Given the description of an element on the screen output the (x, y) to click on. 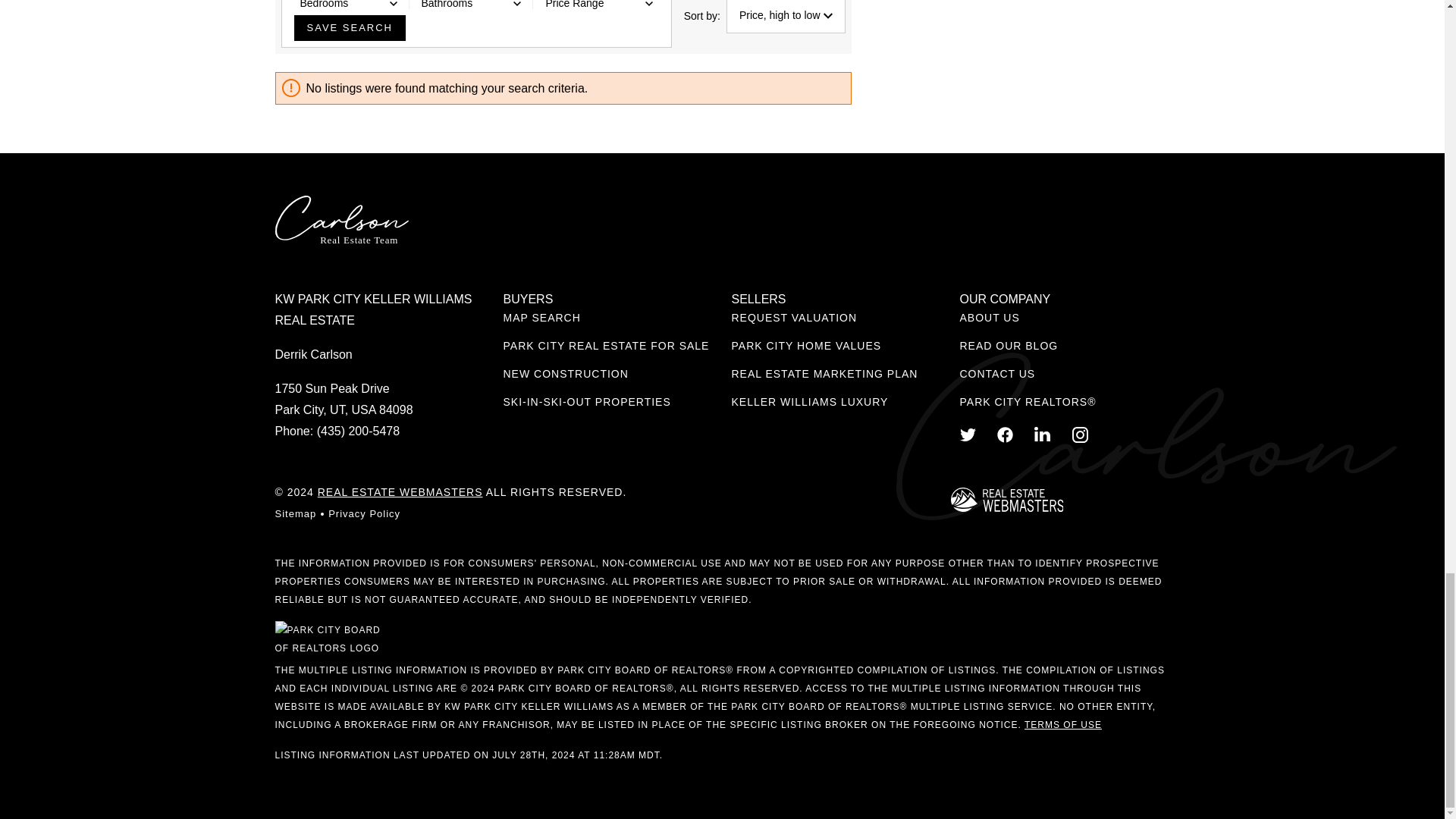
Price, high to low (785, 16)
SAVE SEARCH (350, 27)
Bedrooms (348, 7)
Price Range (597, 7)
Bathrooms (471, 7)
